Given the description of an element on the screen output the (x, y) to click on. 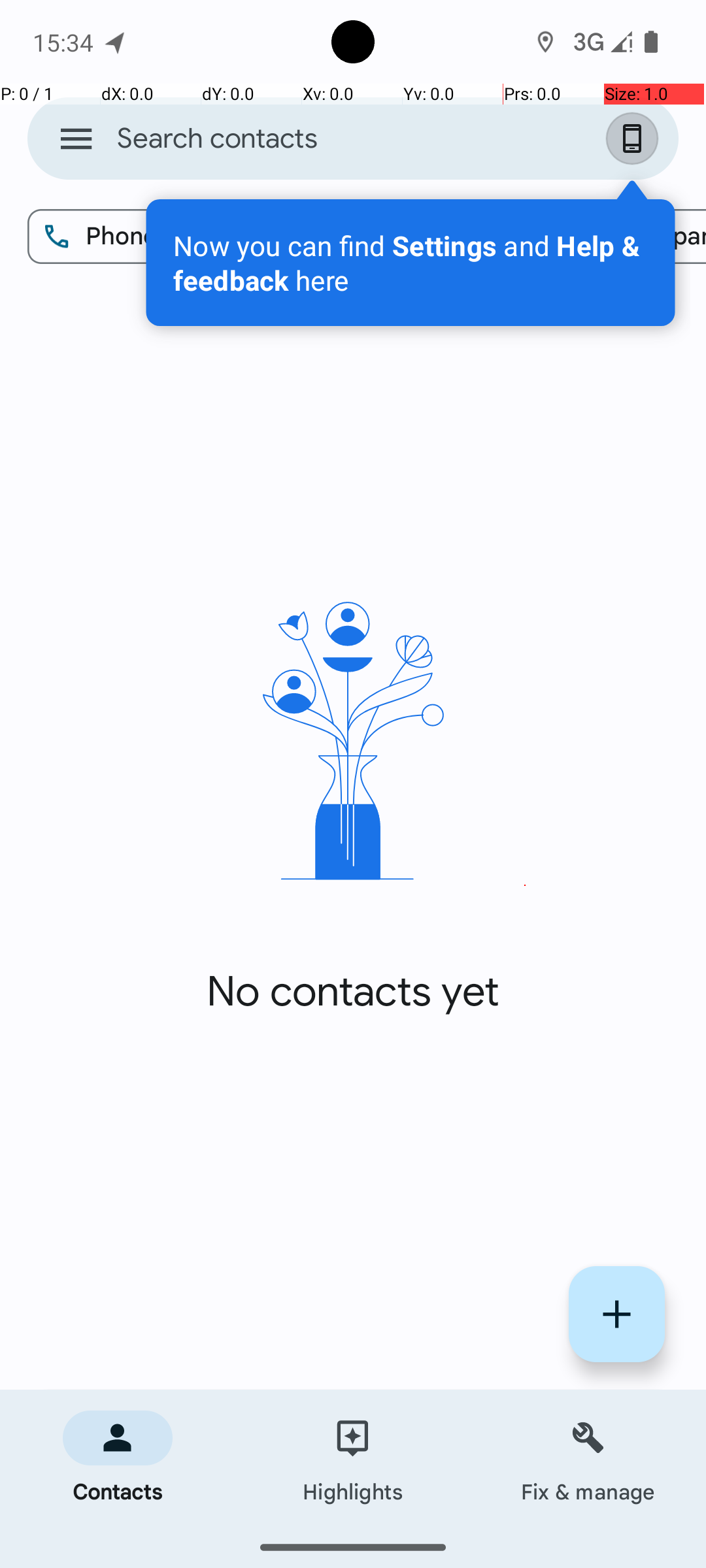
Contacts Element type: android.widget.FrameLayout (117, 1457)
Highlights Element type: android.widget.FrameLayout (352, 1457)
Fix & manage Element type: android.widget.FrameLayout (588, 1457)
Open navigation drawer Element type: android.widget.ImageButton (75, 138)
Signed in as Device
Account and settings. Element type: android.widget.FrameLayout (634, 138)
No contacts yet Element type: android.widget.TextView (353, 991)
Phone contacts Element type: android.widget.Button (157, 236)
Email contacts Element type: android.widget.Button (425, 236)
Now you can find Settings and Help & feedback here
Open account and settings. Element type: android.view.ViewGroup (409, 262)
Now you can find Settings and Help & feedback here Element type: android.widget.TextView (410, 262)
